Given the description of an element on the screen output the (x, y) to click on. 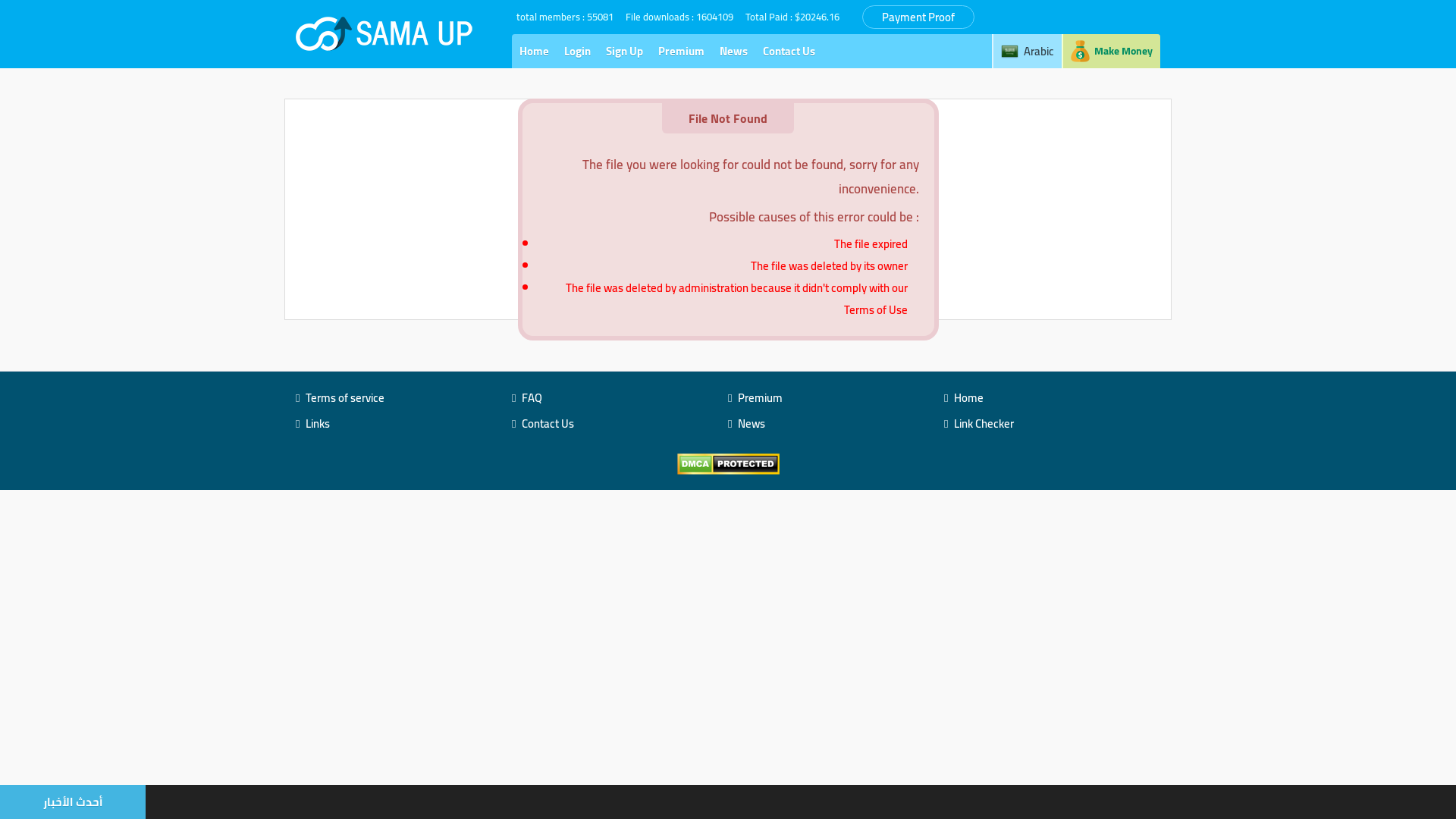
DMCA.com Protection Status Element type: hover (727, 462)
Contact Us Element type: text (547, 423)
Premium Element type: text (681, 51)
Premium Element type: text (759, 397)
Contact Us Element type: text (788, 51)
Login Element type: text (577, 51)
Make Money Element type: text (1110, 51)
FAQ Element type: text (531, 397)
SamaUp Cloud Element type: hover (384, 32)
Payment Proof Element type: text (918, 16)
Advertisement Element type: hover (727, 446)
Home Element type: text (968, 397)
Home Element type: text (533, 51)
Link Checker Element type: text (983, 423)
Arabic Element type: text (1026, 51)
Sign Up Element type: text (624, 51)
Terms of service Element type: text (344, 397)
News Element type: text (733, 51)
News Element type: text (751, 423)
Links Element type: text (317, 423)
